Given the description of an element on the screen output the (x, y) to click on. 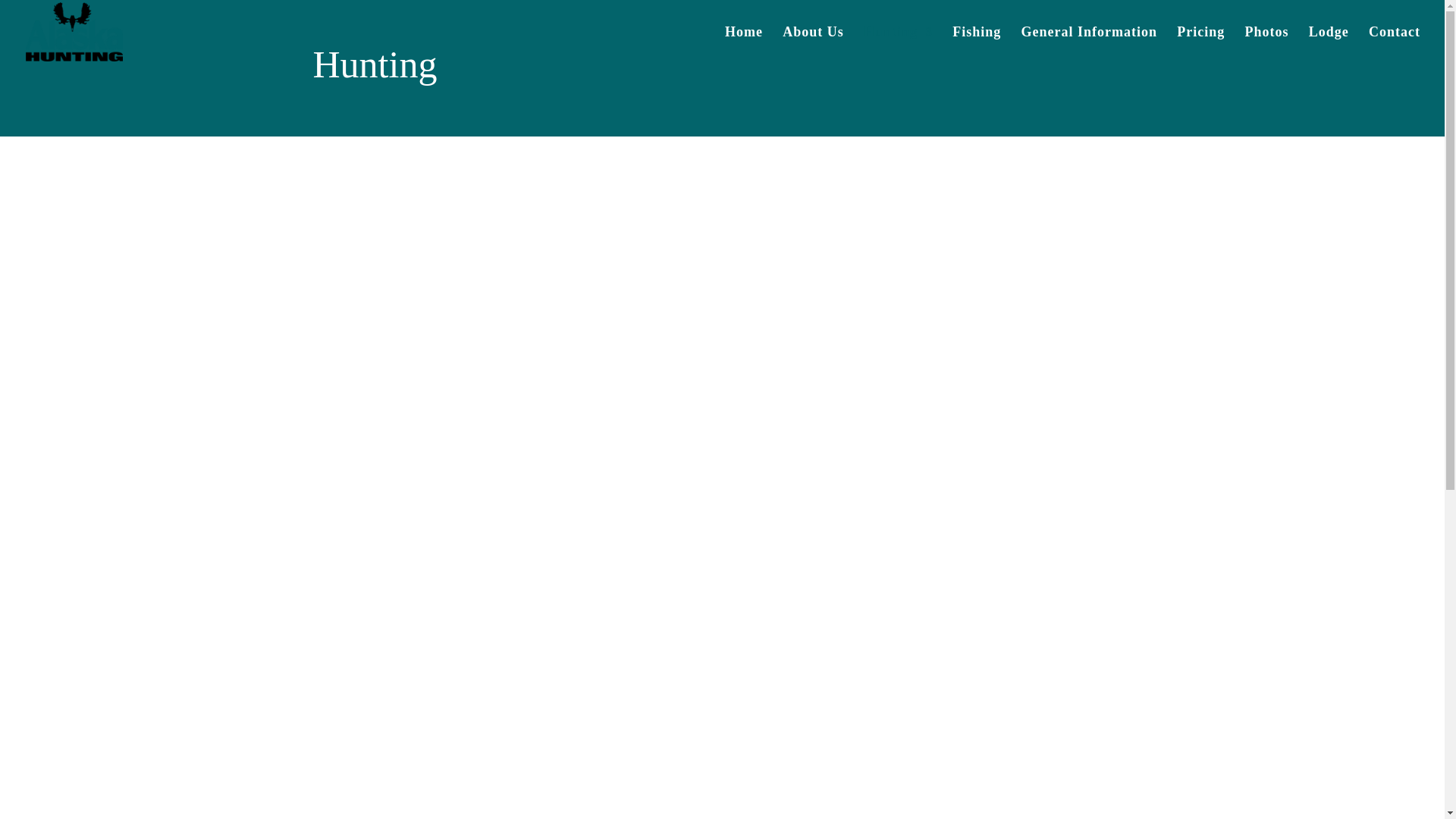
Photos (1266, 44)
Lodge (1328, 44)
General Information (1088, 44)
Pricing (1200, 44)
Contact (1394, 44)
About Us (813, 44)
Fishing (976, 44)
Hunting (898, 44)
Home (743, 44)
